Given the description of an element on the screen output the (x, y) to click on. 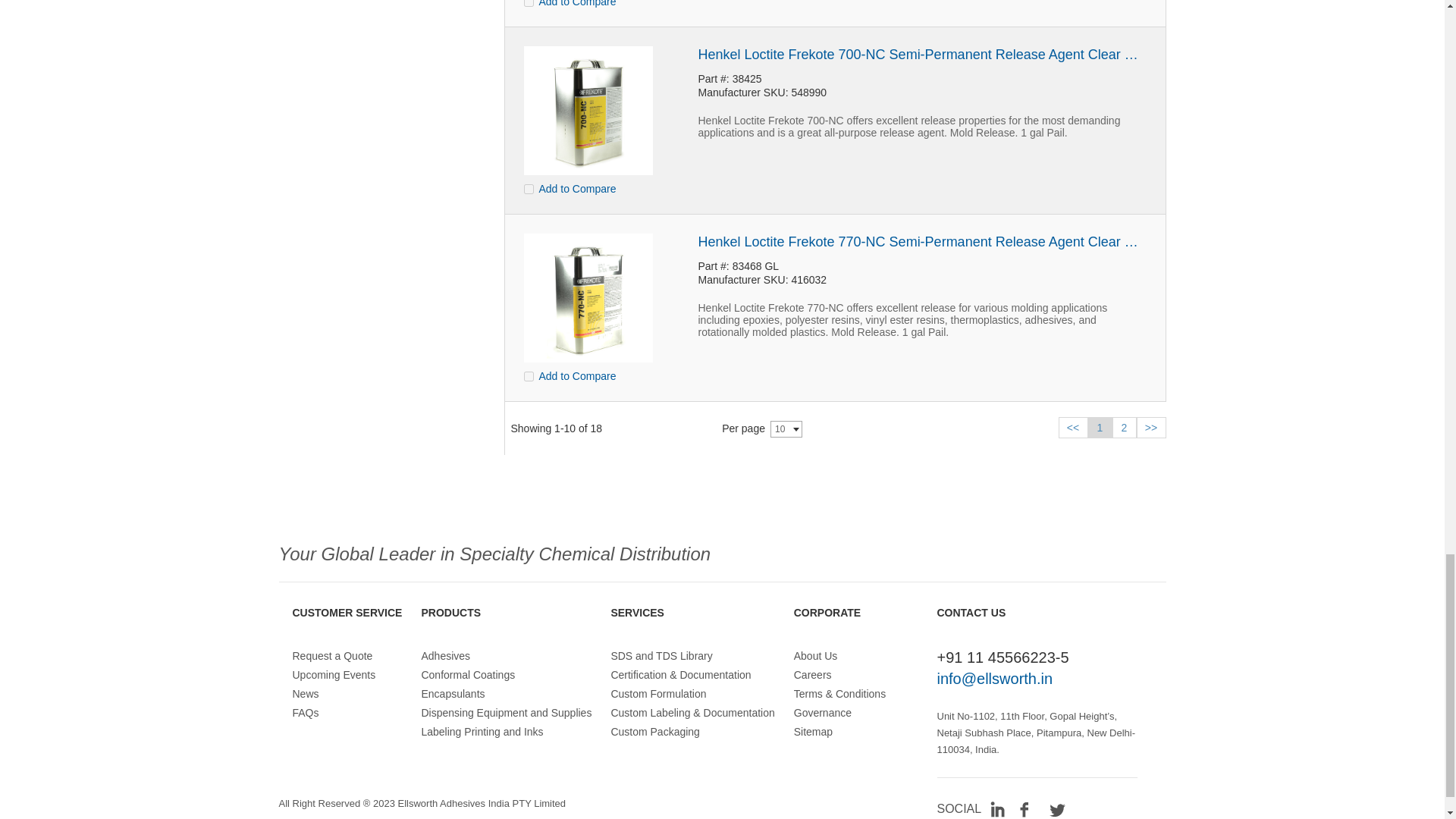
on (527, 2)
on (527, 375)
on (527, 189)
